Given the description of an element on the screen output the (x, y) to click on. 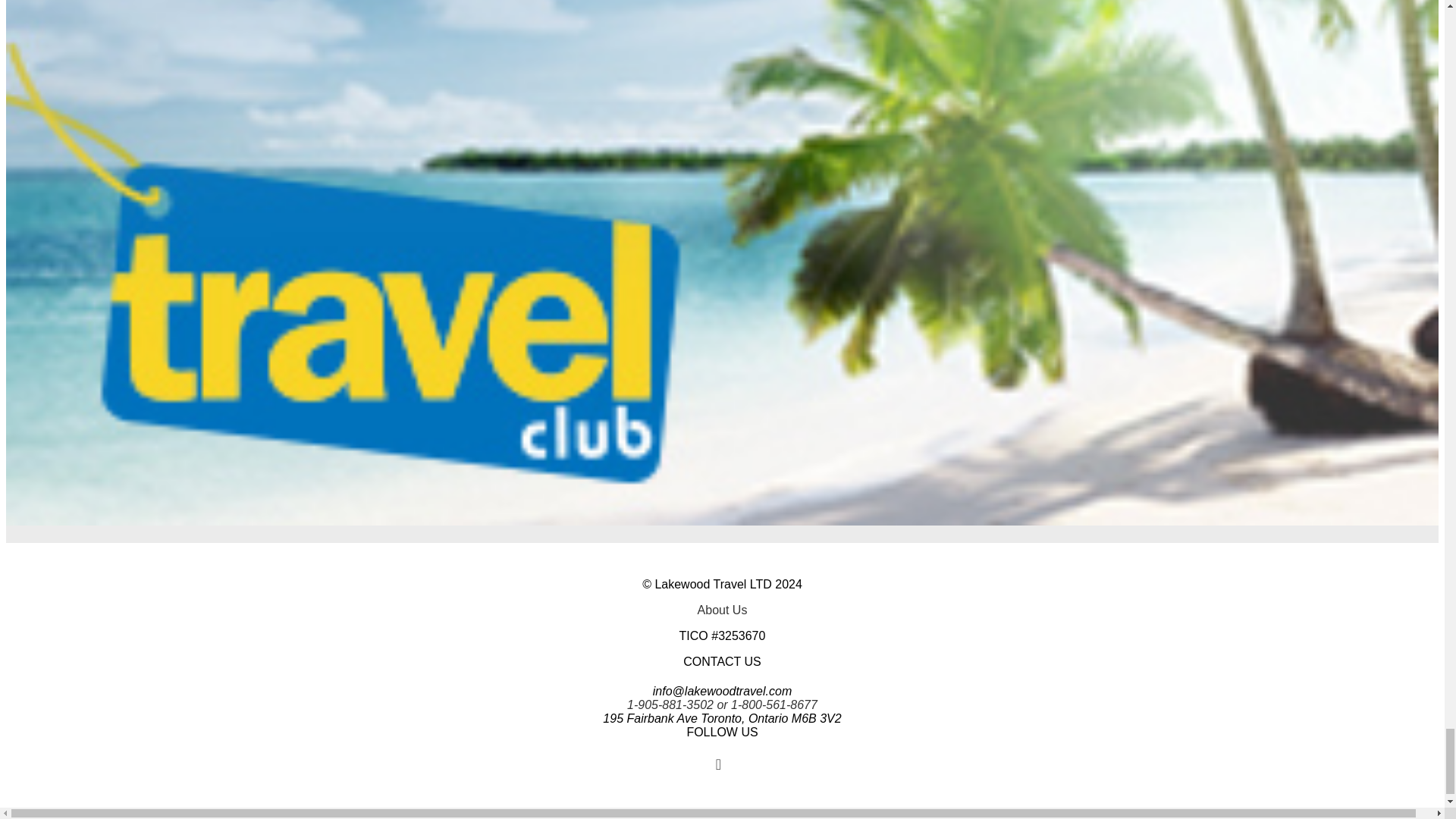
1-905-881-3502 or 1-800-561-8677 (721, 704)
About Us (722, 609)
